Given the description of an element on the screen output the (x, y) to click on. 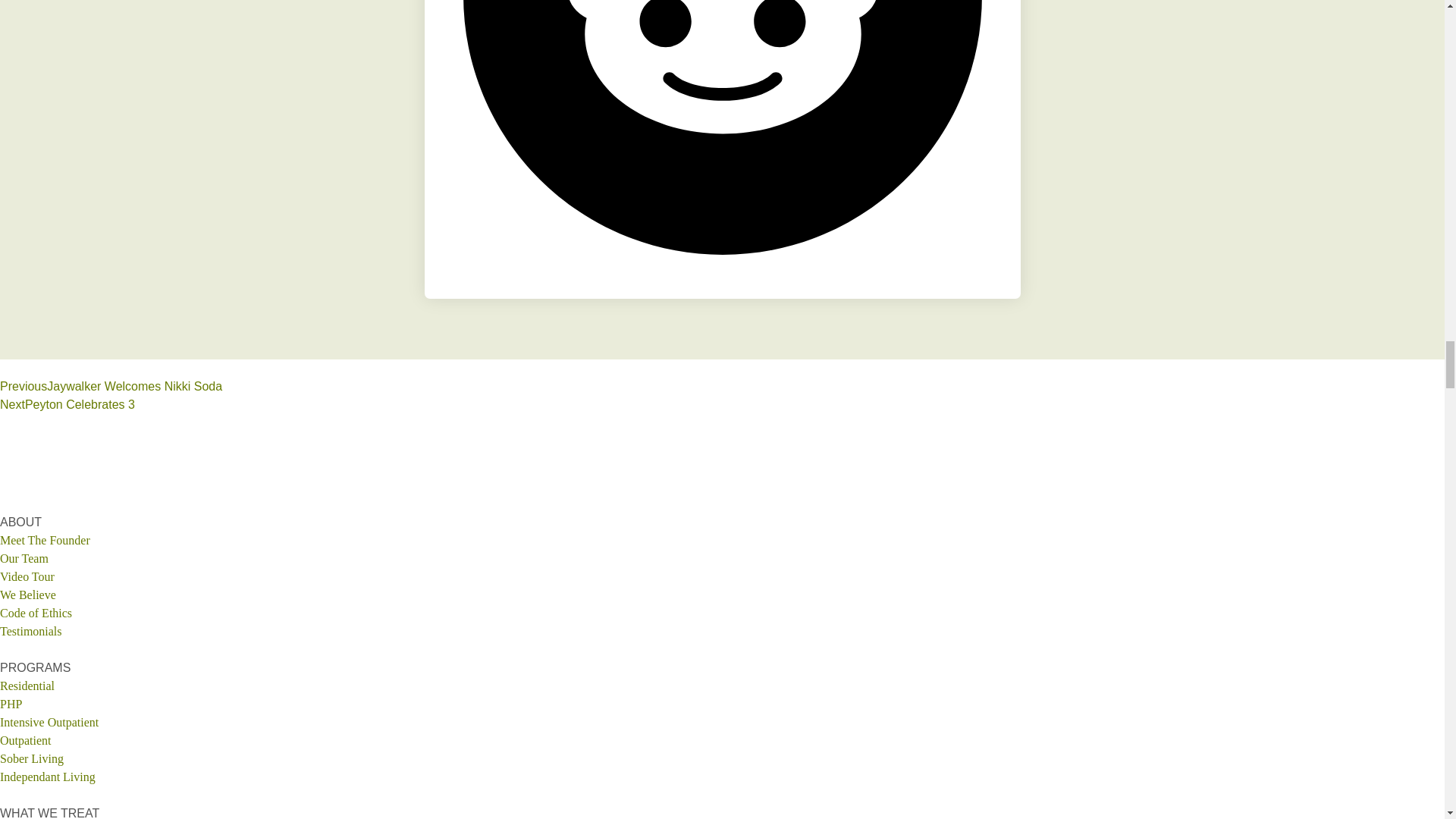
Jaywalker Lodge Logo White - Jaywalker (722, 472)
